Given the description of an element on the screen output the (x, y) to click on. 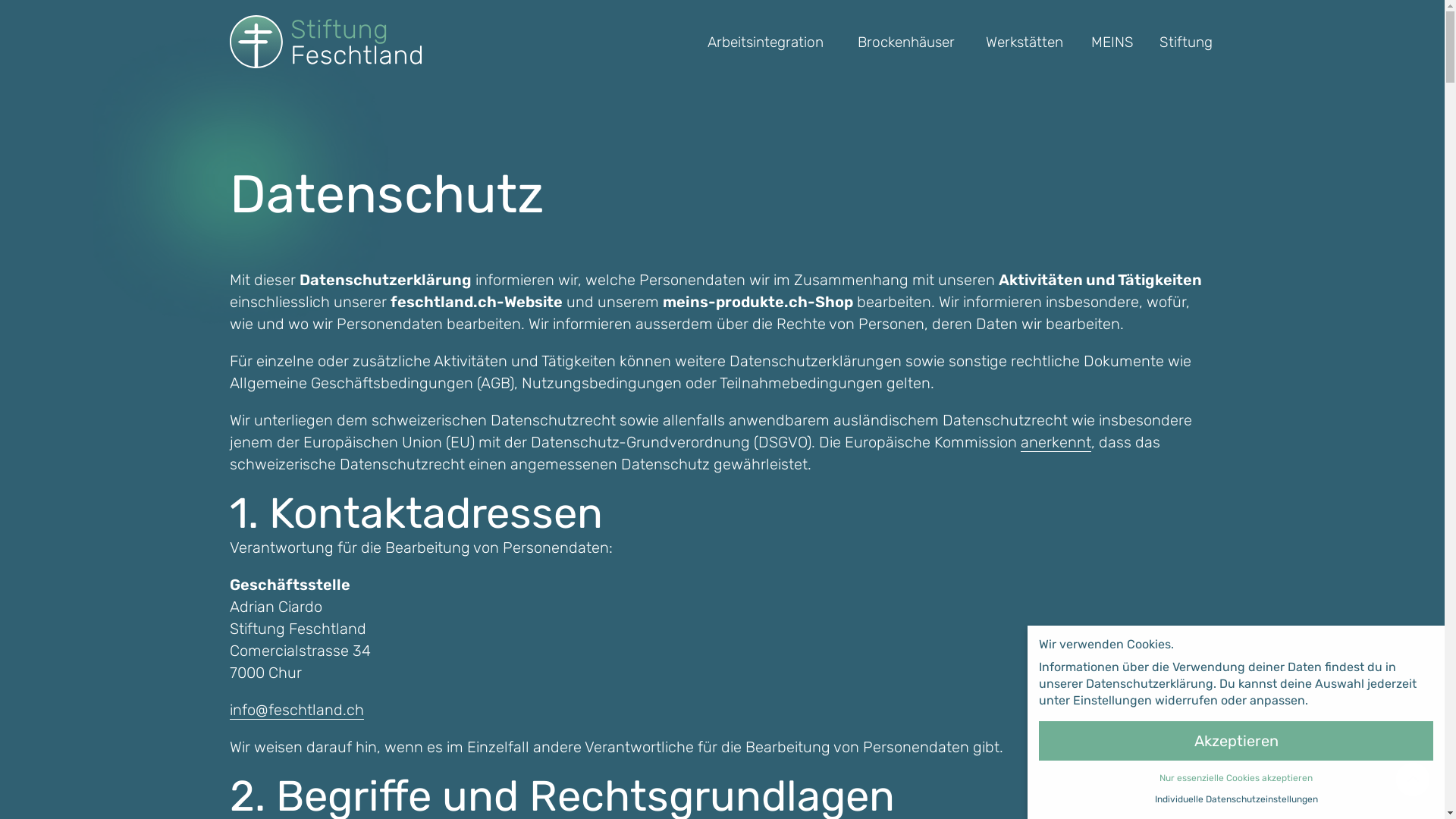
Einstellungen Element type: text (1112, 700)
Stiftung Feschtland Startseite Element type: hover (324, 41)
Nur essenzielle Cookies akzeptieren Element type: text (1235, 777)
info@feschtland.ch Element type: text (296, 709)
anerkennt Element type: text (1055, 442)
Stiftung Element type: text (1186, 41)
Individuelle Datenschutzeinstellungen Element type: text (1235, 798)
Akzeptieren Element type: text (1235, 740)
MEINS Element type: text (1112, 41)
